Given the description of an element on the screen output the (x, y) to click on. 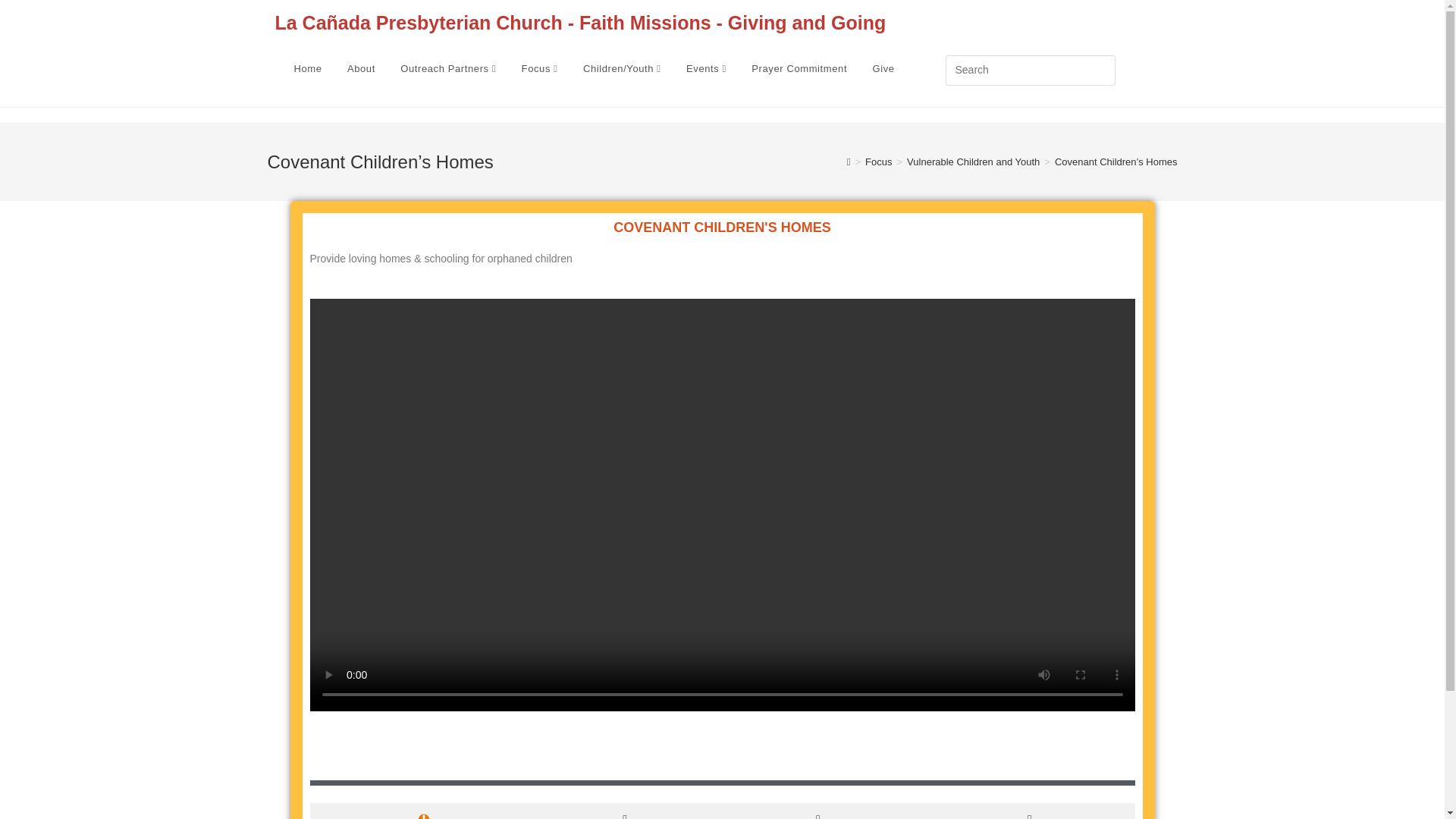
Focus (540, 68)
Outreach Partners (447, 68)
About (361, 68)
Home (307, 68)
